Given the description of an element on the screen output the (x, y) to click on. 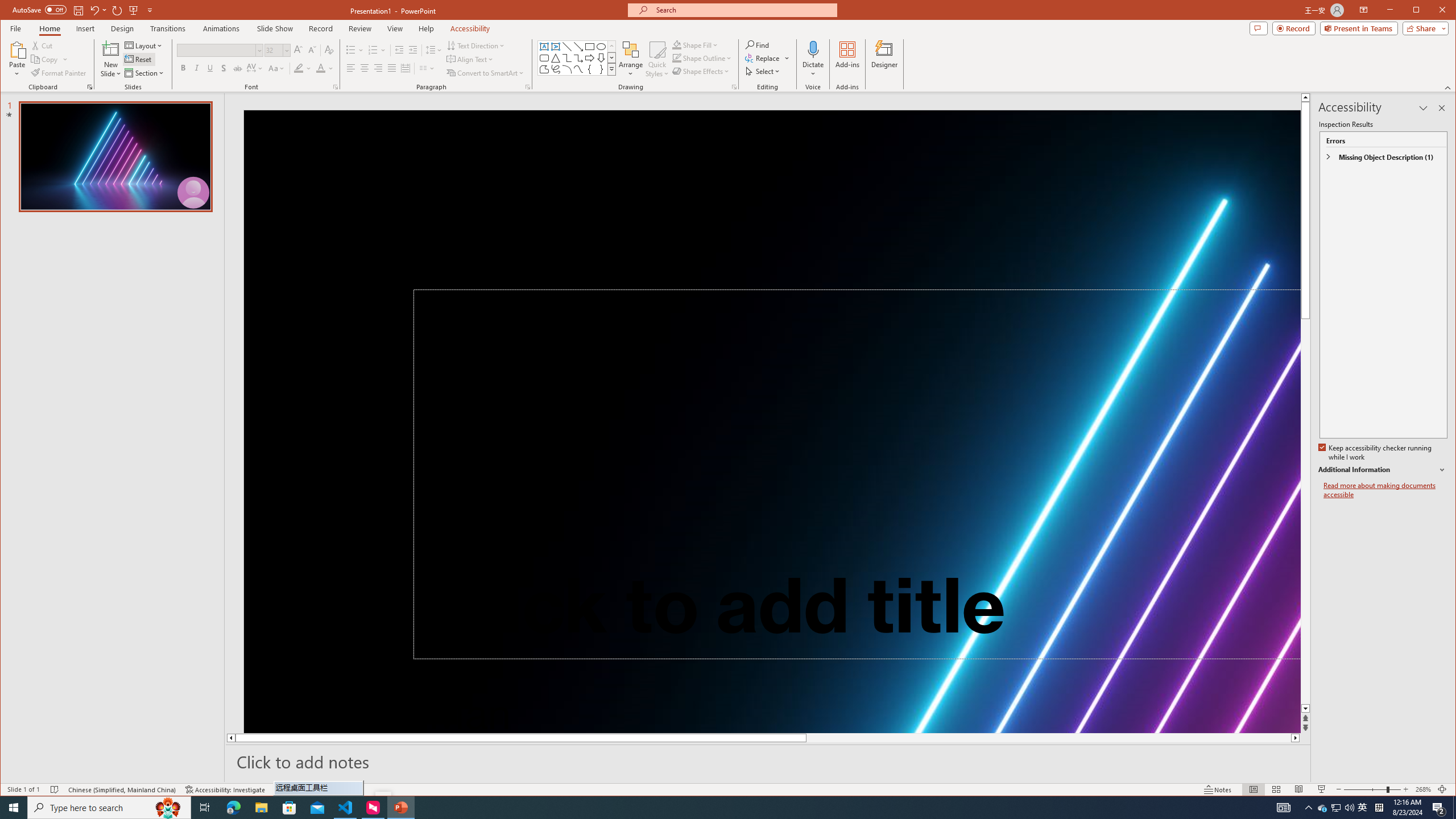
Type here to search (108, 807)
